Given the description of an element on the screen output the (x, y) to click on. 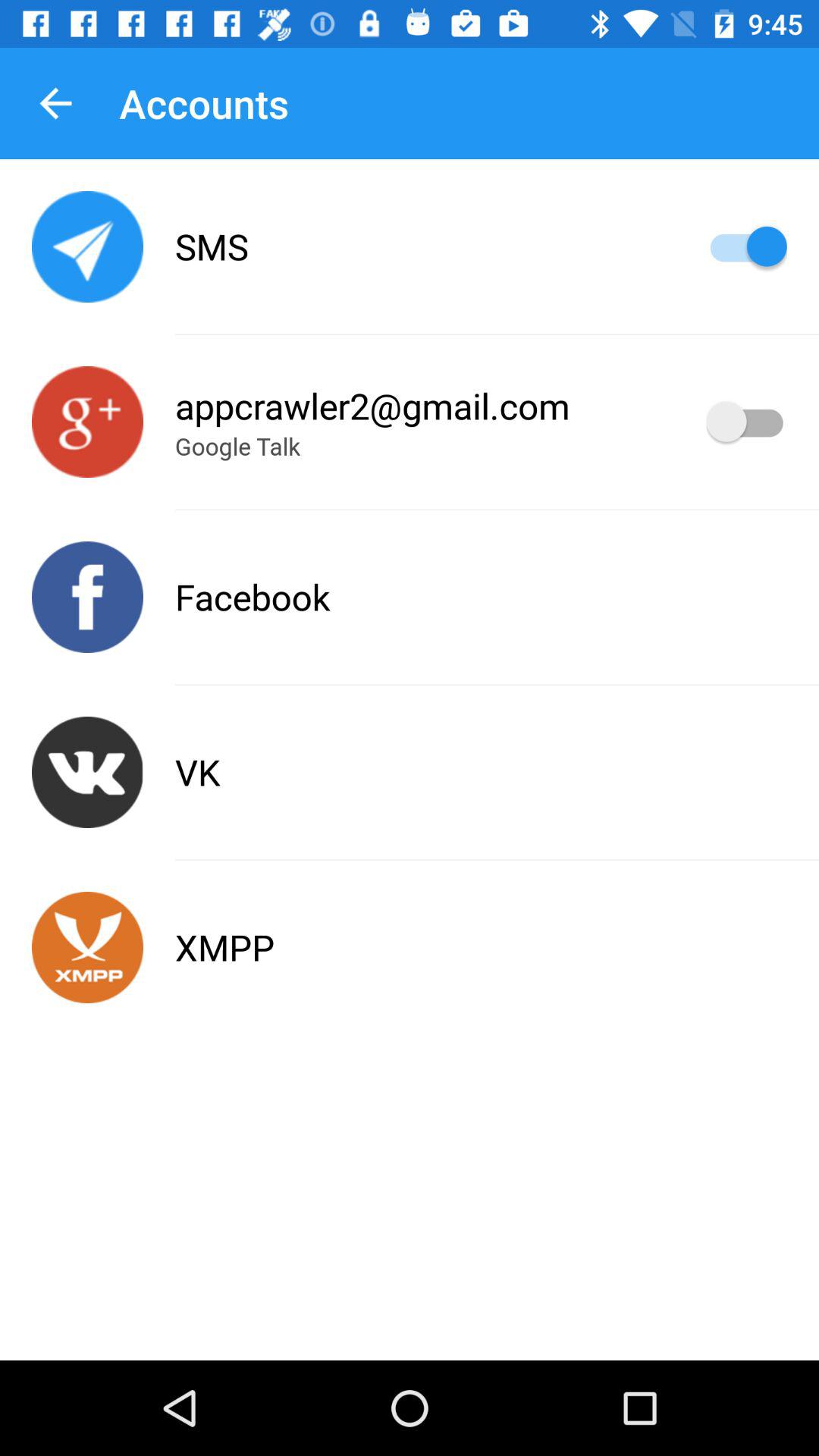
toggle account (746, 421)
